Given the description of an element on the screen output the (x, y) to click on. 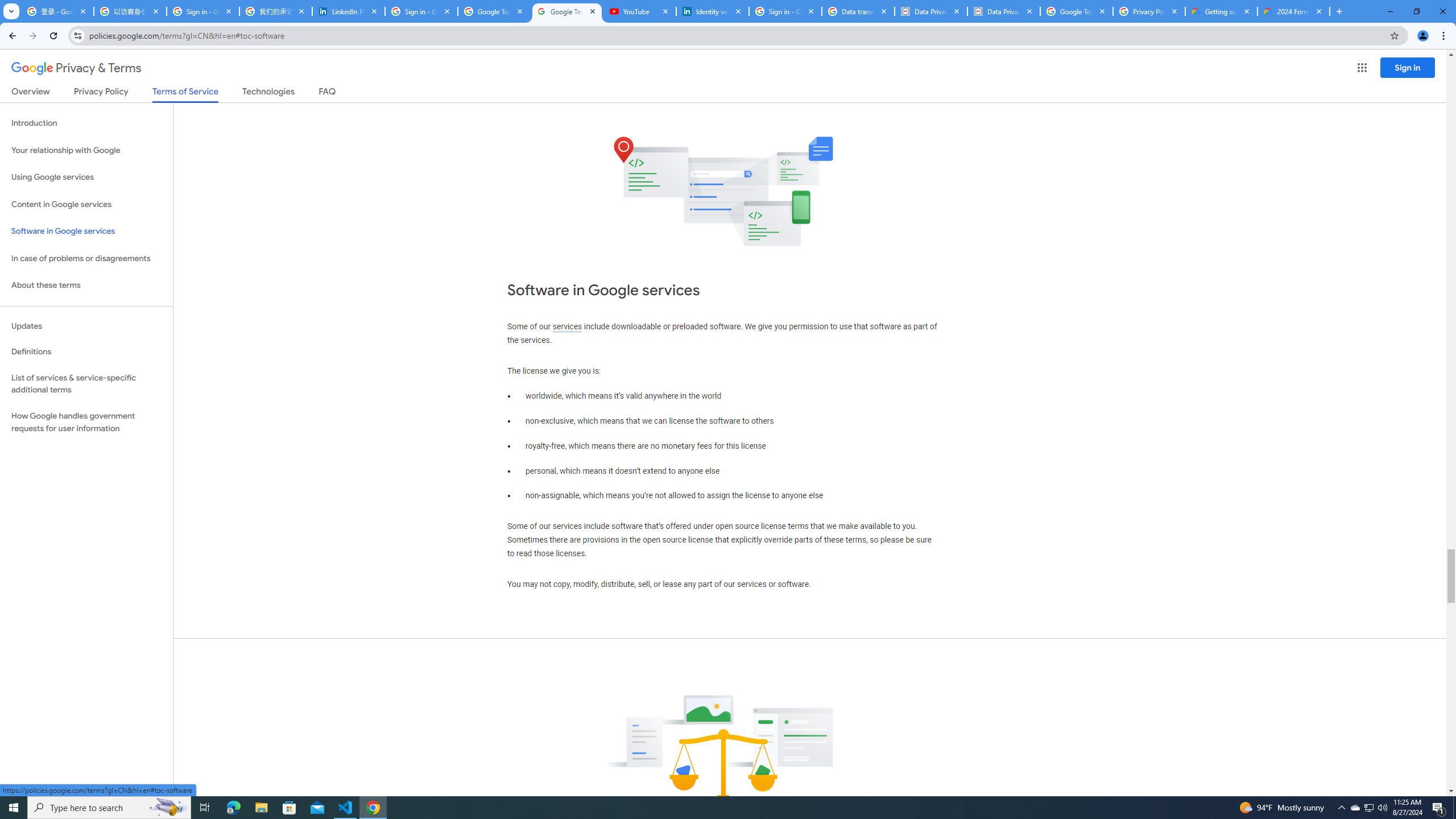
Data Privacy Framework (1003, 11)
Your relationship with Google (86, 150)
Data Privacy Framework (930, 11)
Sign in - Google Accounts (202, 11)
LinkedIn Privacy Policy (348, 11)
